Given the description of an element on the screen output the (x, y) to click on. 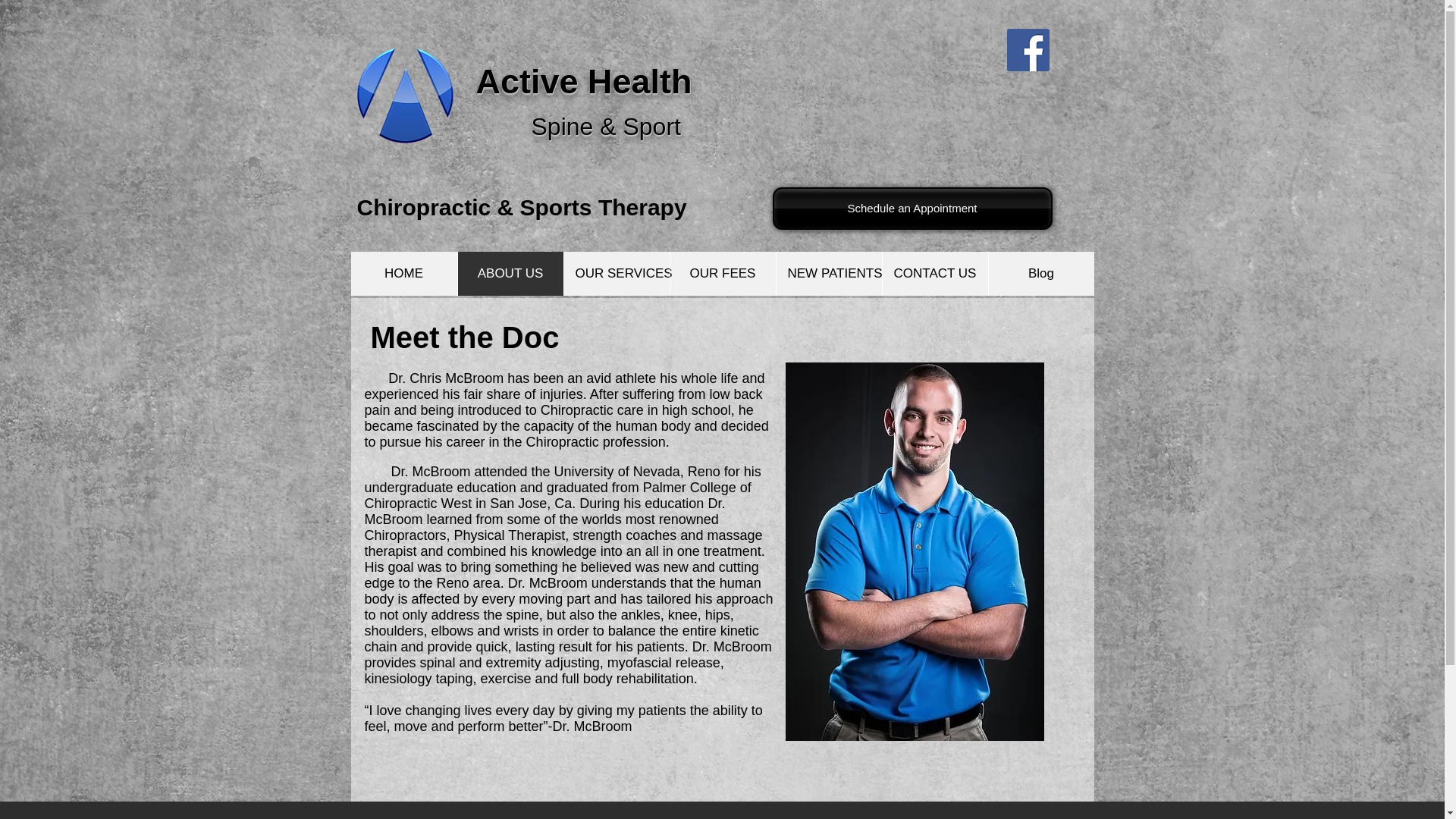
CONTACT US (933, 273)
Schedule an Appointment (911, 208)
Blog (1040, 273)
HOME (403, 273)
OUR SERVICES (615, 273)
ABOUT US (509, 273)
OUR FEES (721, 273)
NEW PATIENTS (827, 273)
Logo2.png (404, 94)
